Given the description of an element on the screen output the (x, y) to click on. 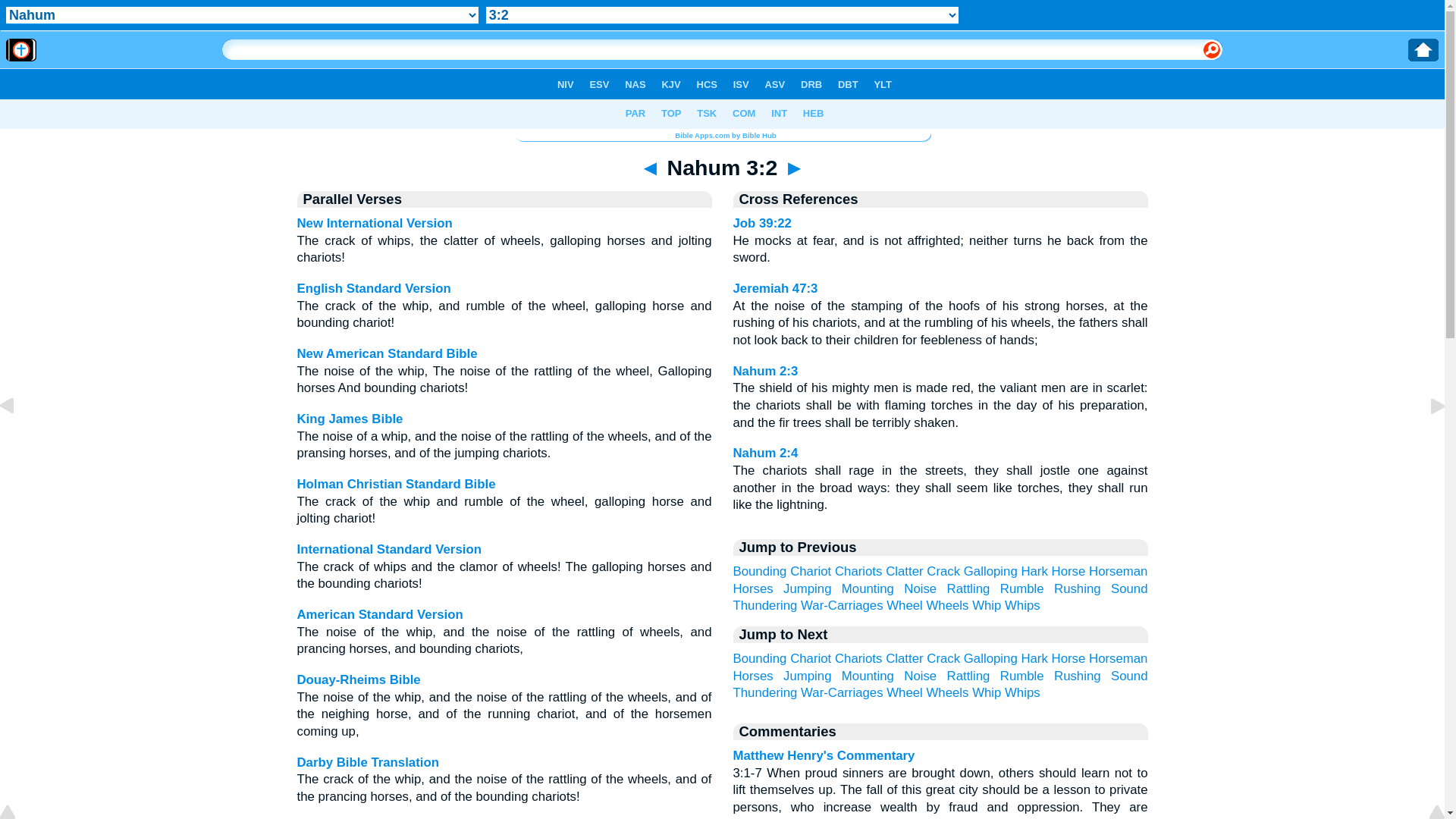
Hark Element type: text (1033, 571)
Clatter Element type: text (903, 658)
Rattling Element type: text (968, 675)
Jumping Element type: text (807, 675)
Wheels Element type: text (946, 605)
Sound Element type: text (1129, 588)
Thundering Element type: text (764, 605)
Chariots Element type: text (858, 658)
Rushing Element type: text (1077, 675)
Rushing Element type: text (1077, 588)
Crack Element type: text (943, 571)
Noise Element type: text (919, 588)
Rattling Element type: text (968, 588)
Bounding Element type: text (759, 658)
Wheel Element type: text (904, 605)
Chariots Element type: text (858, 571)
War-Carriages Element type: text (841, 605)
Whip Element type: text (986, 692)
Hark Element type: text (1033, 658)
Horse Element type: text (1068, 658)
Whips Element type: text (1022, 692)
Chariot Element type: text (810, 658)
War-Carriages Element type: text (841, 692)
Horseman Element type: text (1117, 658)
Rumble Element type: text (1022, 675)
Chariot Element type: text (810, 571)
Bounding Element type: text (759, 571)
Galloping Element type: text (990, 658)
Galloping Element type: text (990, 571)
Wheels Element type: text (946, 692)
Horses Element type: text (752, 675)
Horseman Element type: text (1117, 571)
Sound Element type: text (1129, 675)
Whip Element type: text (986, 605)
Wheel Element type: text (904, 692)
Horses Element type: text (752, 588)
Horse Element type: text (1068, 571)
Nahum 3:1 Element type: hover (18, 440)
Rumble Element type: text (1022, 588)
Jumping Element type: text (807, 588)
Mounting Element type: text (867, 675)
Thundering Element type: text (764, 692)
Crack Element type: text (943, 658)
Whips Element type: text (1022, 605)
Clatter Element type: text (903, 571)
Nahum 3:3 Element type: hover (1425, 440)
Noise Element type: text (919, 675)
Mounting Element type: text (867, 588)
Matthew Henry's Commentary Element type: text (823, 755)
